Given the description of an element on the screen output the (x, y) to click on. 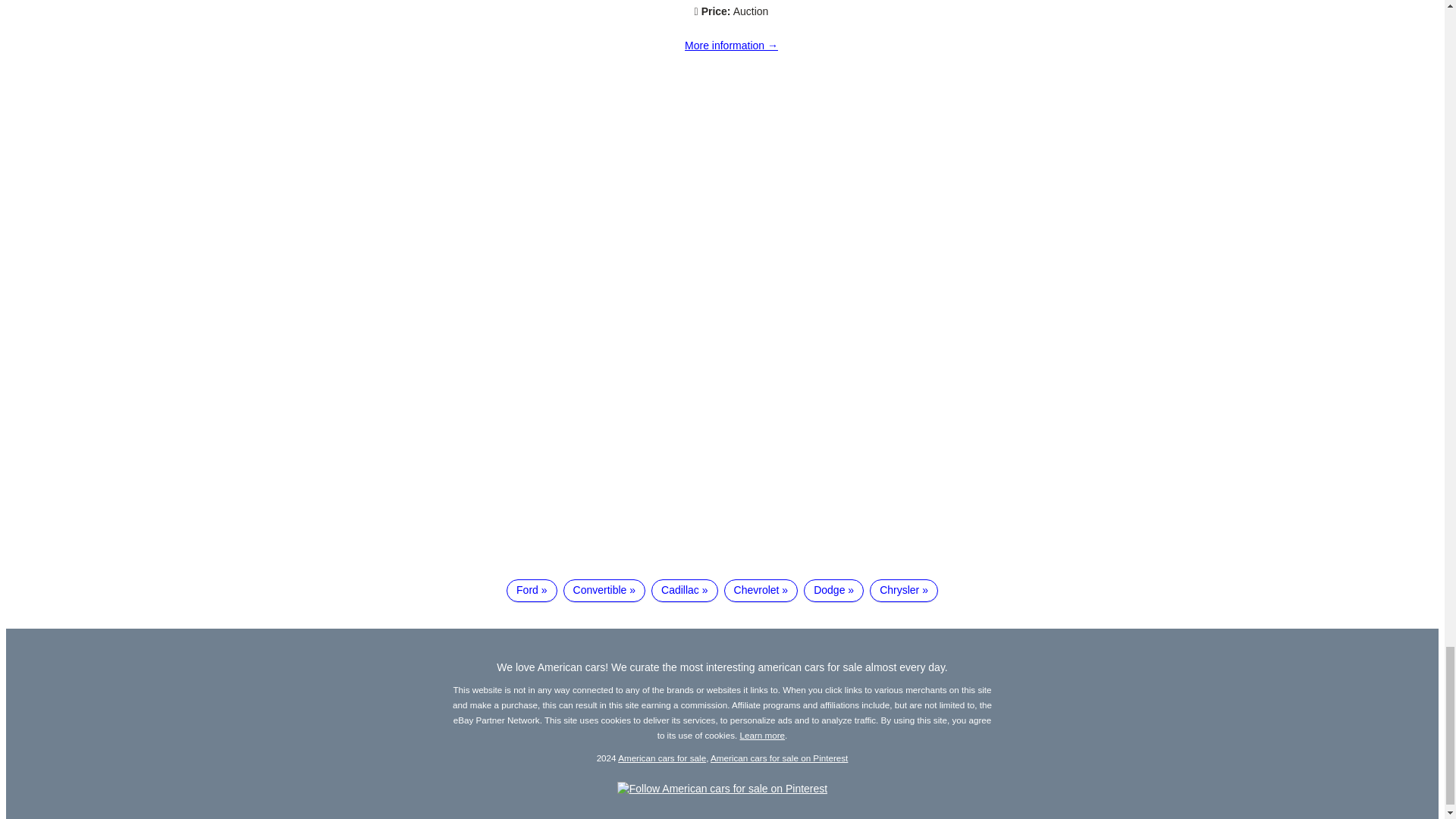
Follow American cars for sale on Pinterest (722, 788)
Ford (531, 590)
Convertible (604, 590)
Chevrolet (760, 590)
Dodge (833, 590)
Chrysler (903, 590)
Learn more (762, 735)
1967 Buick Skylark for sale (731, 45)
American cars for sale on Pinterest (778, 757)
American cars for sale (661, 757)
Cadillac (683, 590)
